Given the description of an element on the screen output the (x, y) to click on. 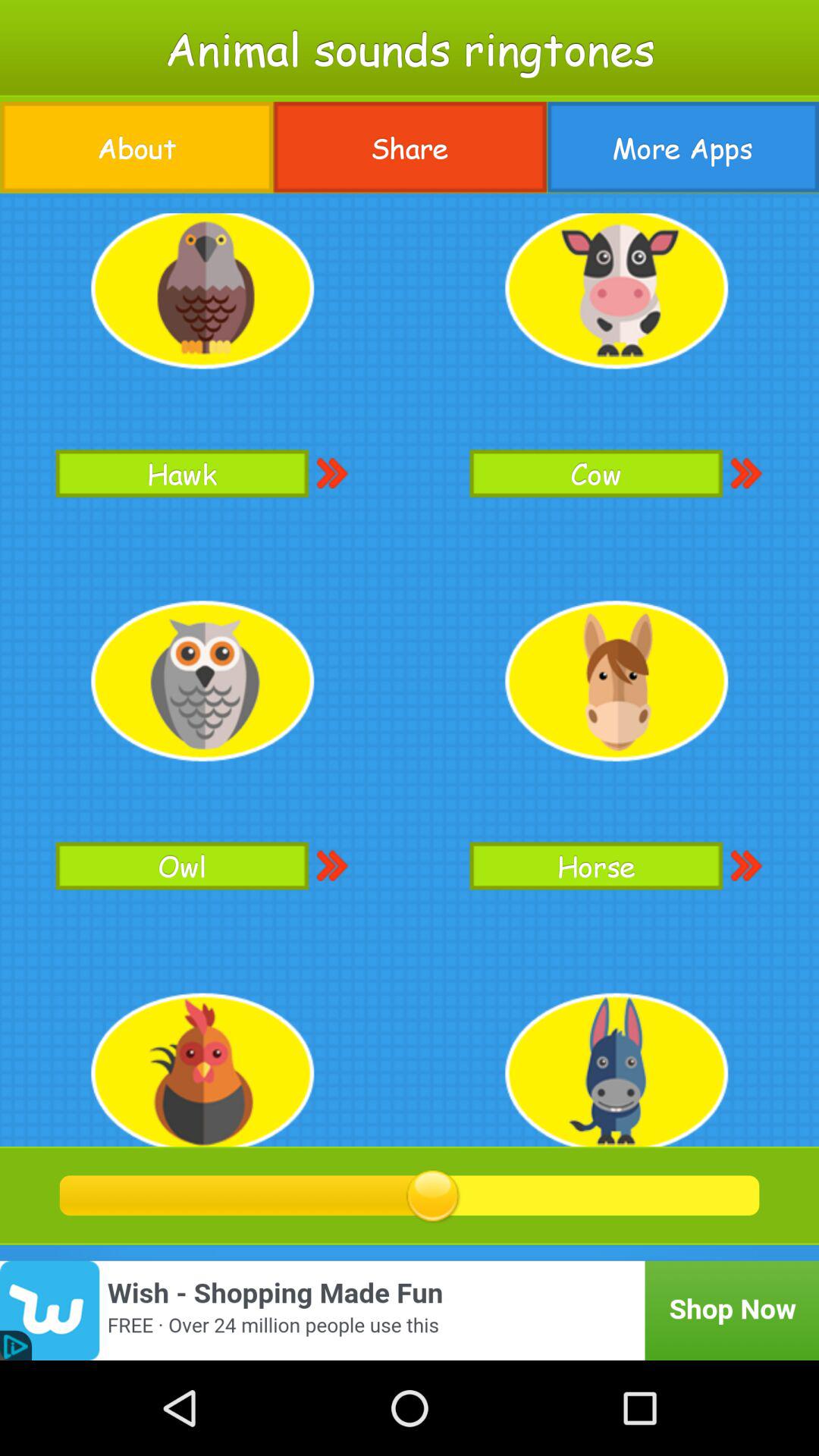
open more apps button (682, 147)
